Given the description of an element on the screen output the (x, y) to click on. 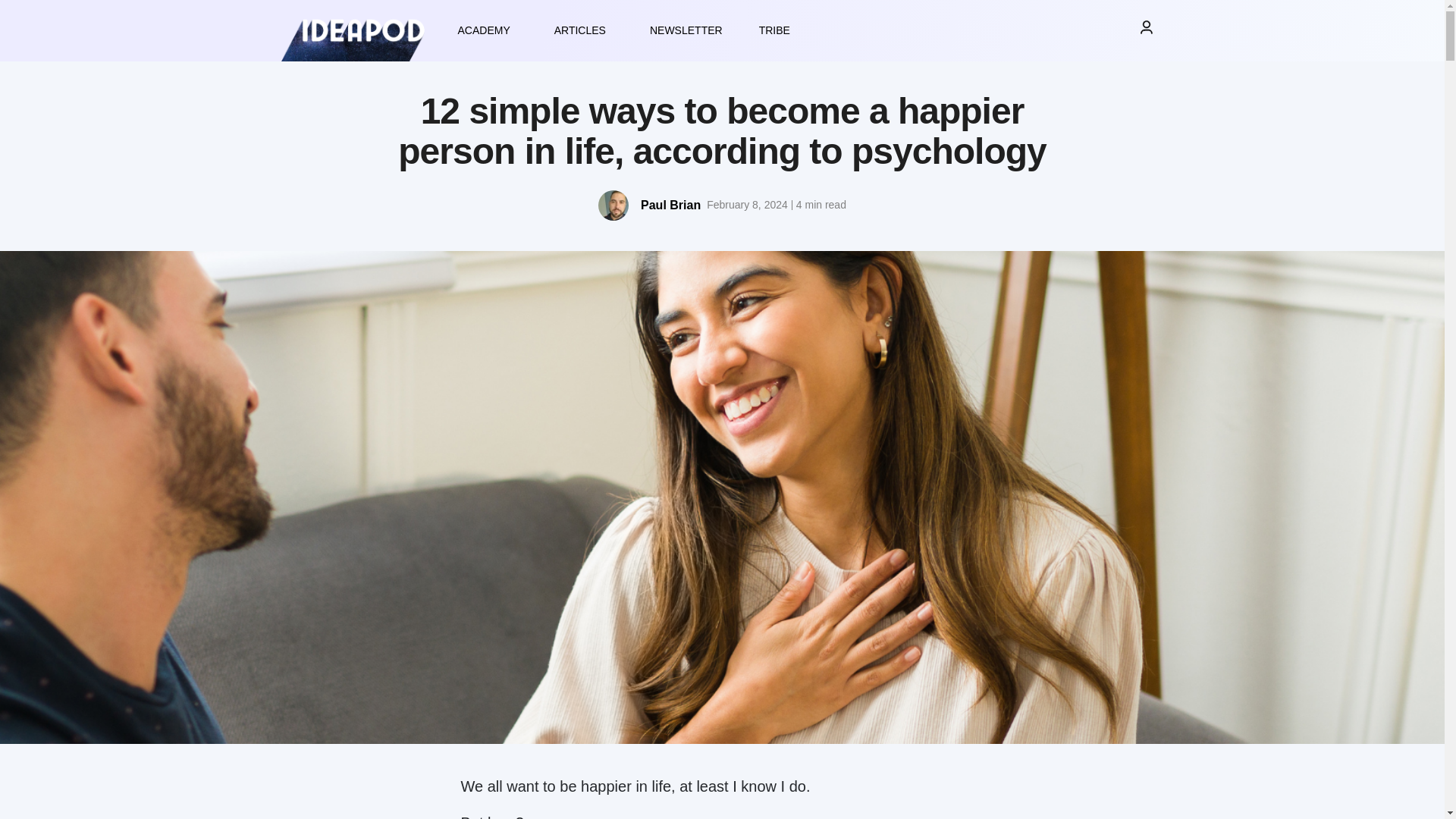
ACADEMY (487, 30)
ARTICLES (583, 30)
NEWSLETTER (686, 30)
